Given the description of an element on the screen output the (x, y) to click on. 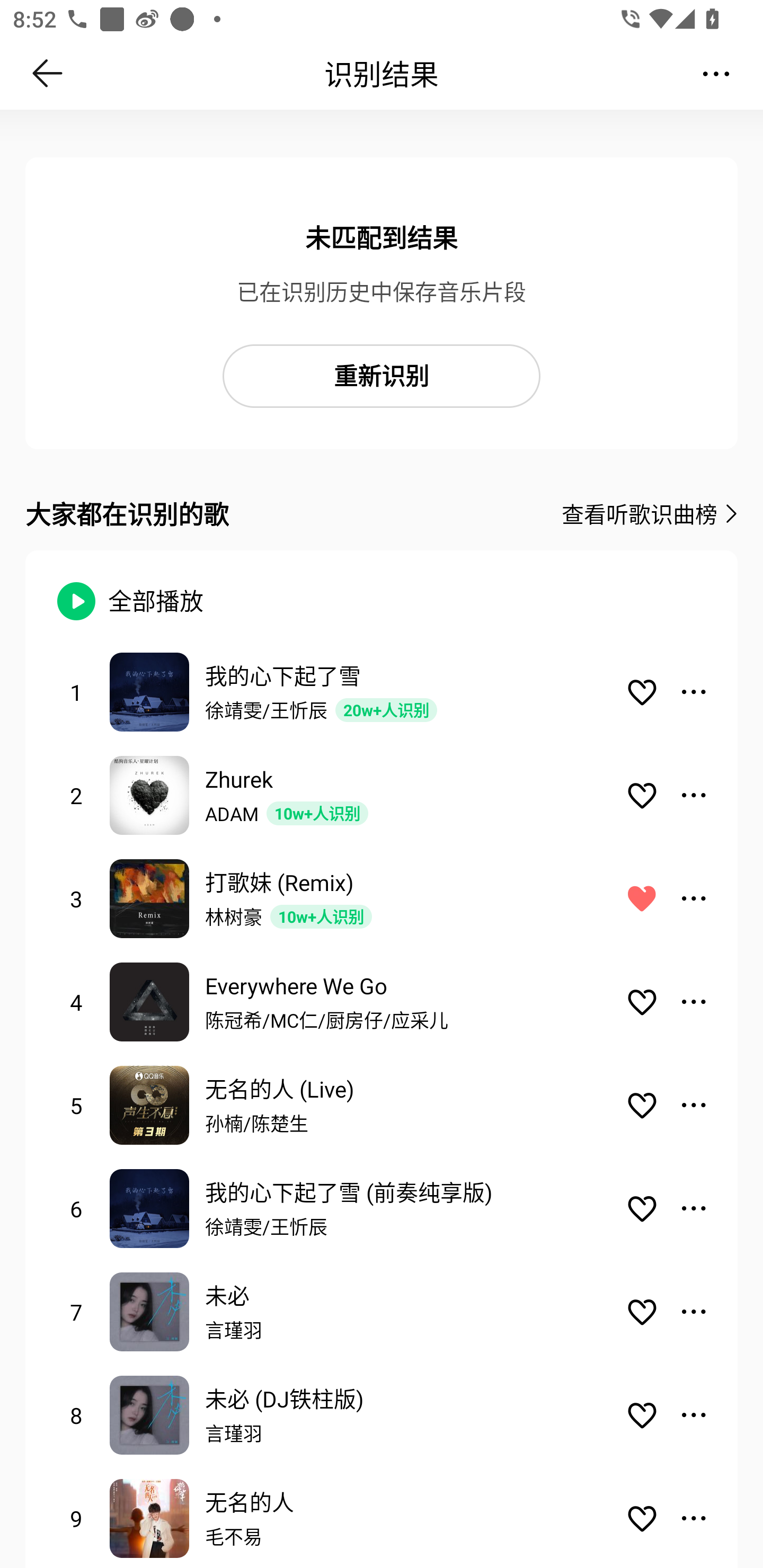
返回 (47, 73)
更多 (715, 73)
重新识别 (381, 375)
查看听歌识曲榜 (639, 513)
全部播放 (149, 600)
1 我的心下起了雪 徐靖雯/王忻辰 20w+人识别 (381, 691)
2 Zhurek ADAM 10w+人识别 (381, 794)
3 打歌妹 (Remix) 林树豪 10w+人识别 (381, 898)
4 Everywhere We Go 陈冠希/MC仁/厨房仔/应采儿 (381, 1001)
5 无名的人 (Live) 孙楠/陈楚生 (381, 1105)
6 我的心下起了雪 (前奏纯享版) 徐靖雯/王忻辰 (381, 1208)
7 未必 言瑾羽 (381, 1312)
8 未必 (DJ铁柱版) 言瑾羽 (381, 1415)
9 无名的人 毛不易 (381, 1517)
